Given the description of an element on the screen output the (x, y) to click on. 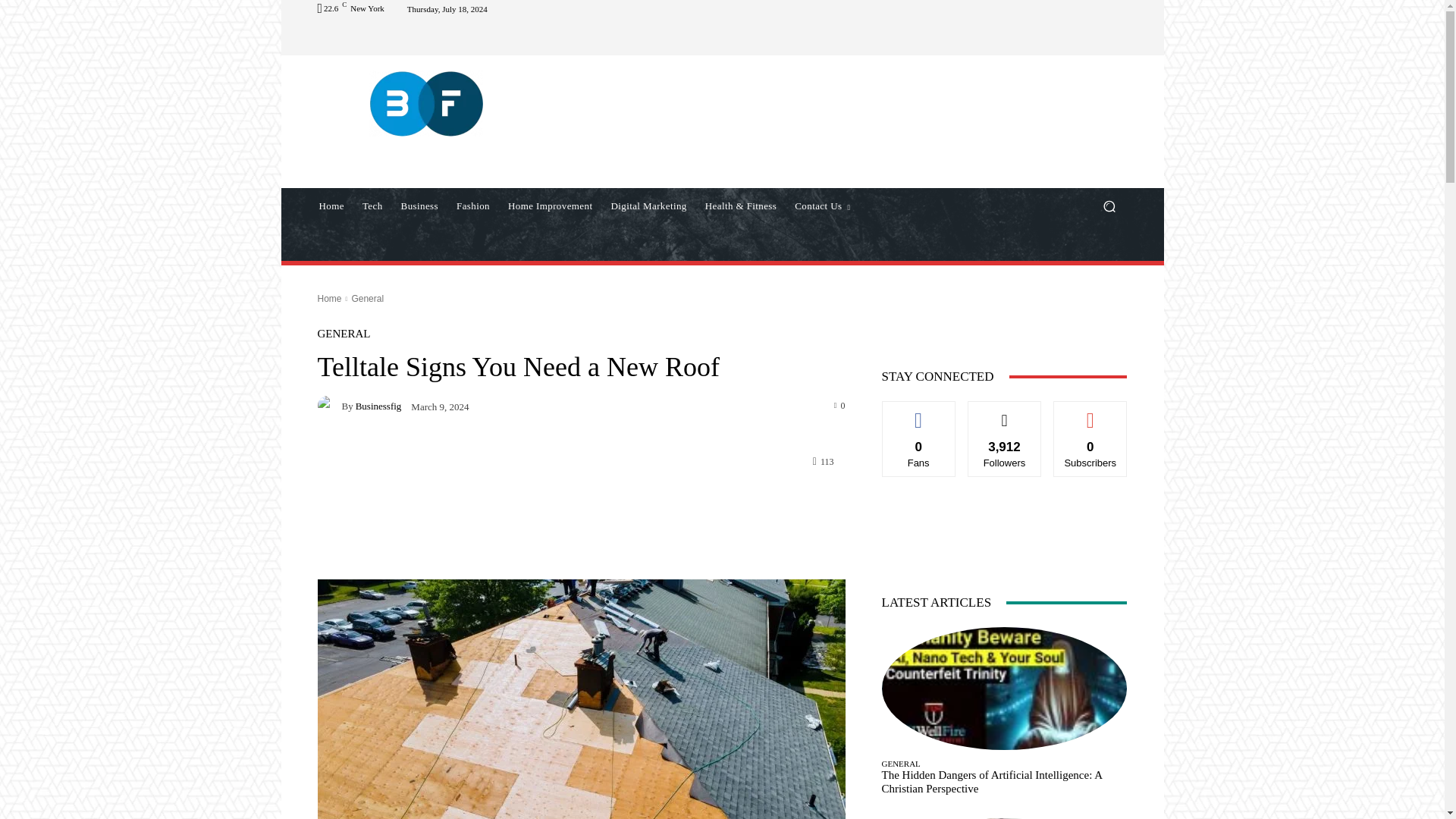
Businessfig (328, 405)
Business (418, 206)
Tech (372, 206)
Home (330, 206)
Telltale Signs You Need a New Roof (580, 699)
View all posts in General (367, 298)
Digital Marketing (648, 206)
Home Improvement (550, 206)
Fashion (472, 206)
Contact Us (822, 206)
